Given the description of an element on the screen output the (x, y) to click on. 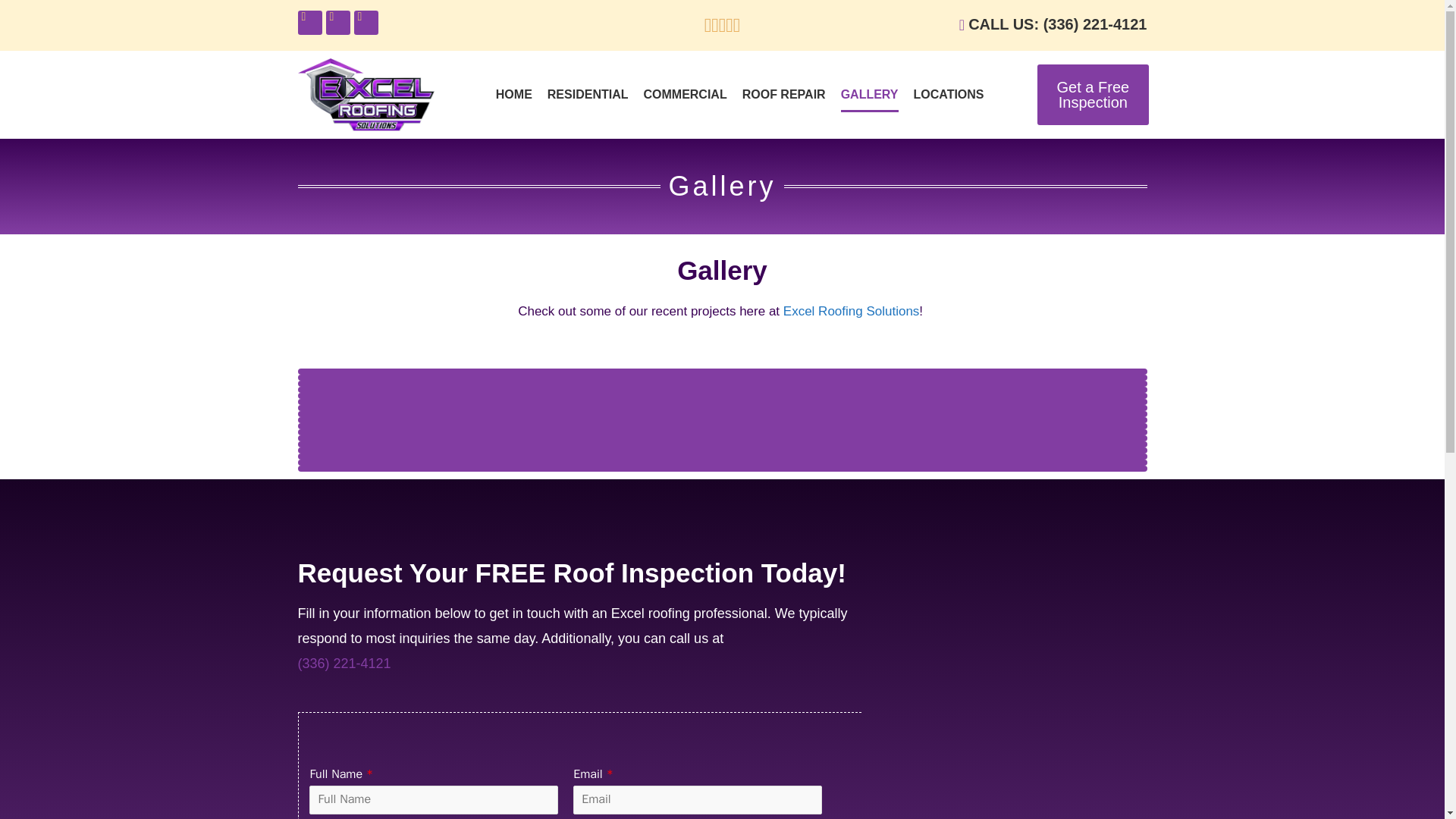
HOME (514, 94)
RESIDENTIAL (587, 94)
COMMERCIAL (684, 94)
LOCATIONS (948, 94)
ROOF REPAIR (783, 94)
GALLERY (869, 94)
3980 Premier Dr Ste, 110, High Point, NC 27265 (1011, 737)
